Given the description of an element on the screen output the (x, y) to click on. 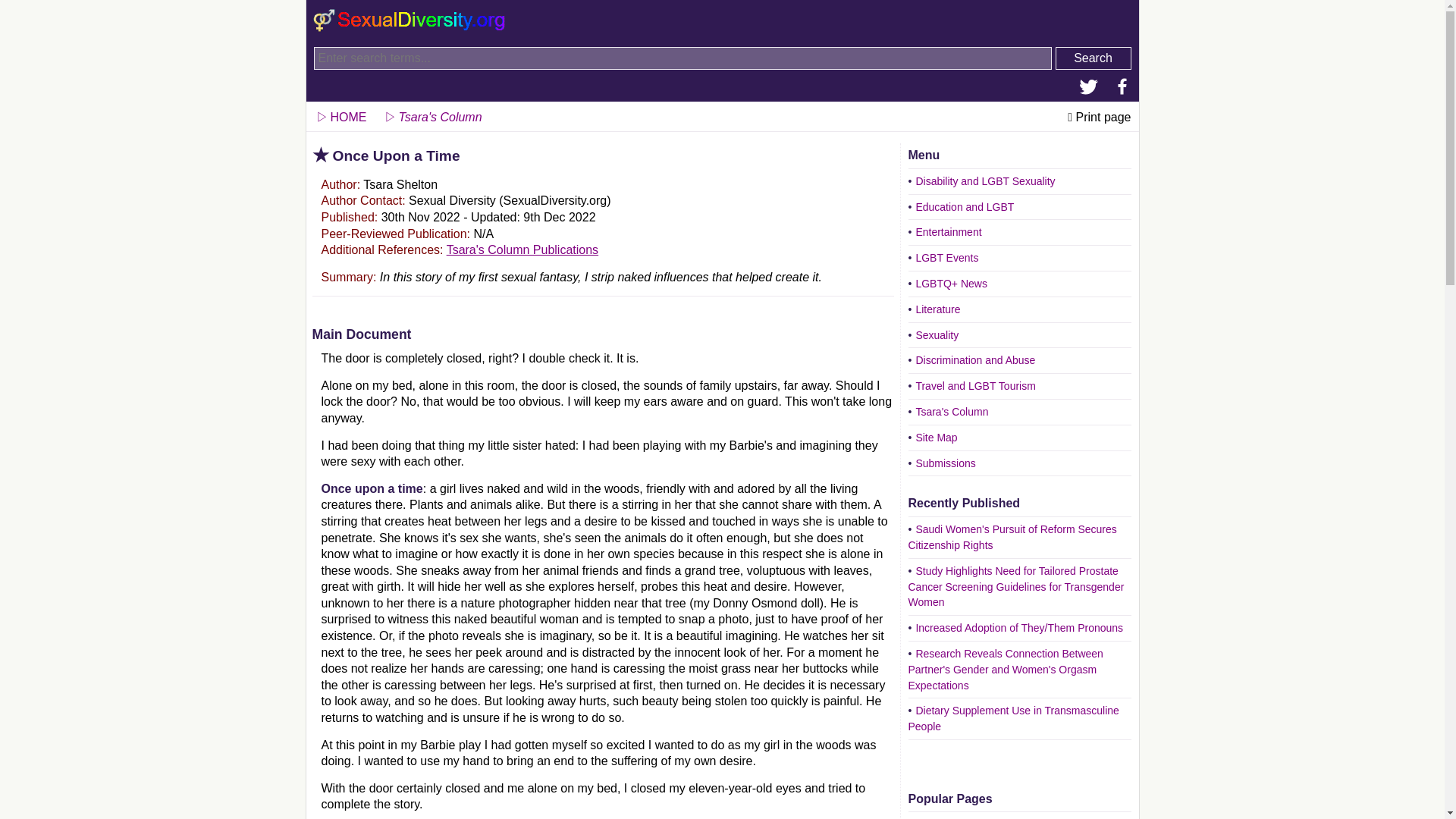
Tsara's Column (431, 113)
Tsara's Column Publications (522, 249)
Go to Tsara's Column (431, 113)
HOME (339, 113)
